Given the description of an element on the screen output the (x, y) to click on. 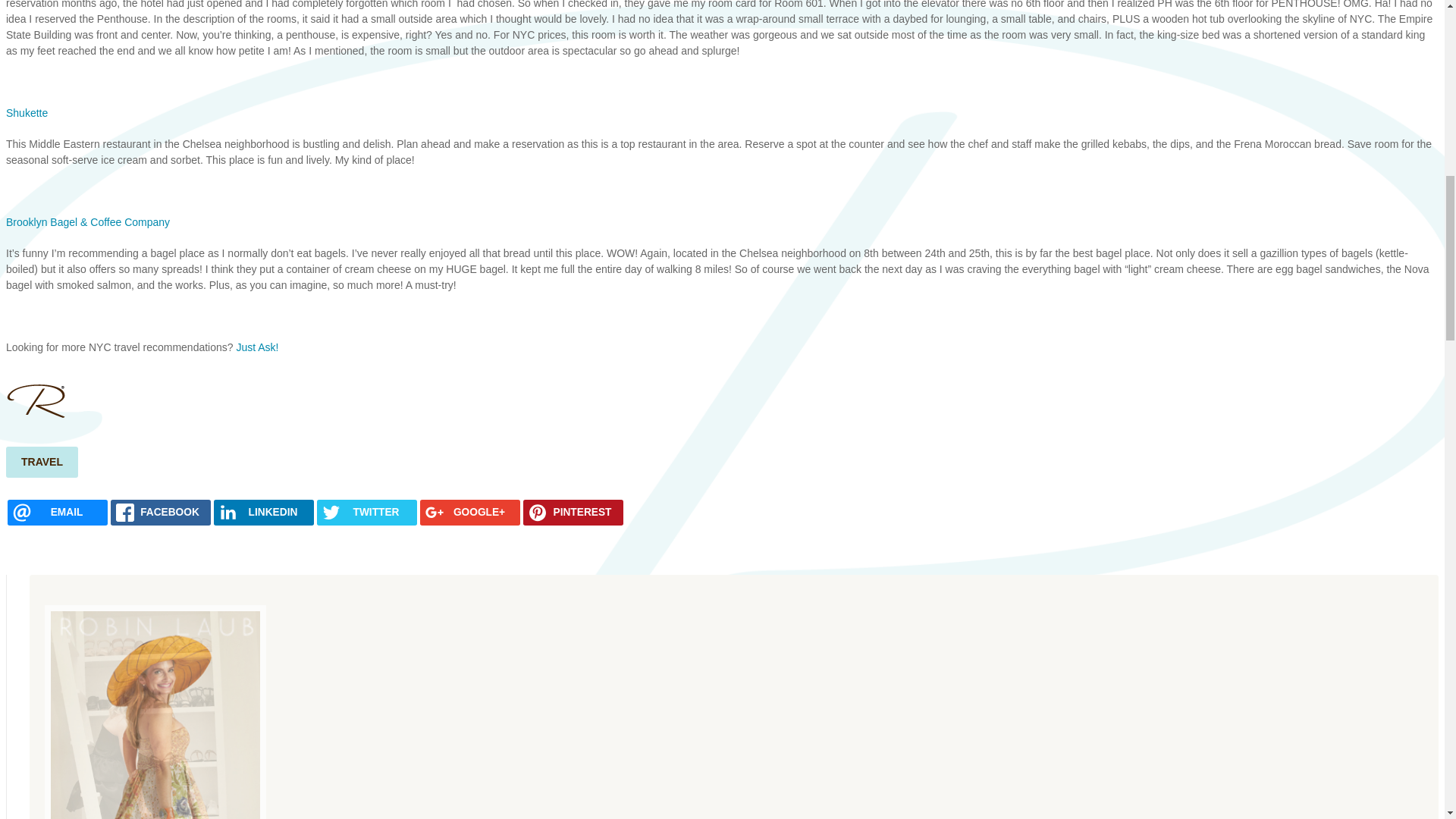
Shukette (26, 112)
LINKEDIN (264, 512)
Just Ask!  (258, 346)
EMAIL (57, 512)
PINTEREST (572, 512)
FACEBOOK (160, 512)
TWITTER (366, 512)
TRAVEL (41, 461)
